Given the description of an element on the screen output the (x, y) to click on. 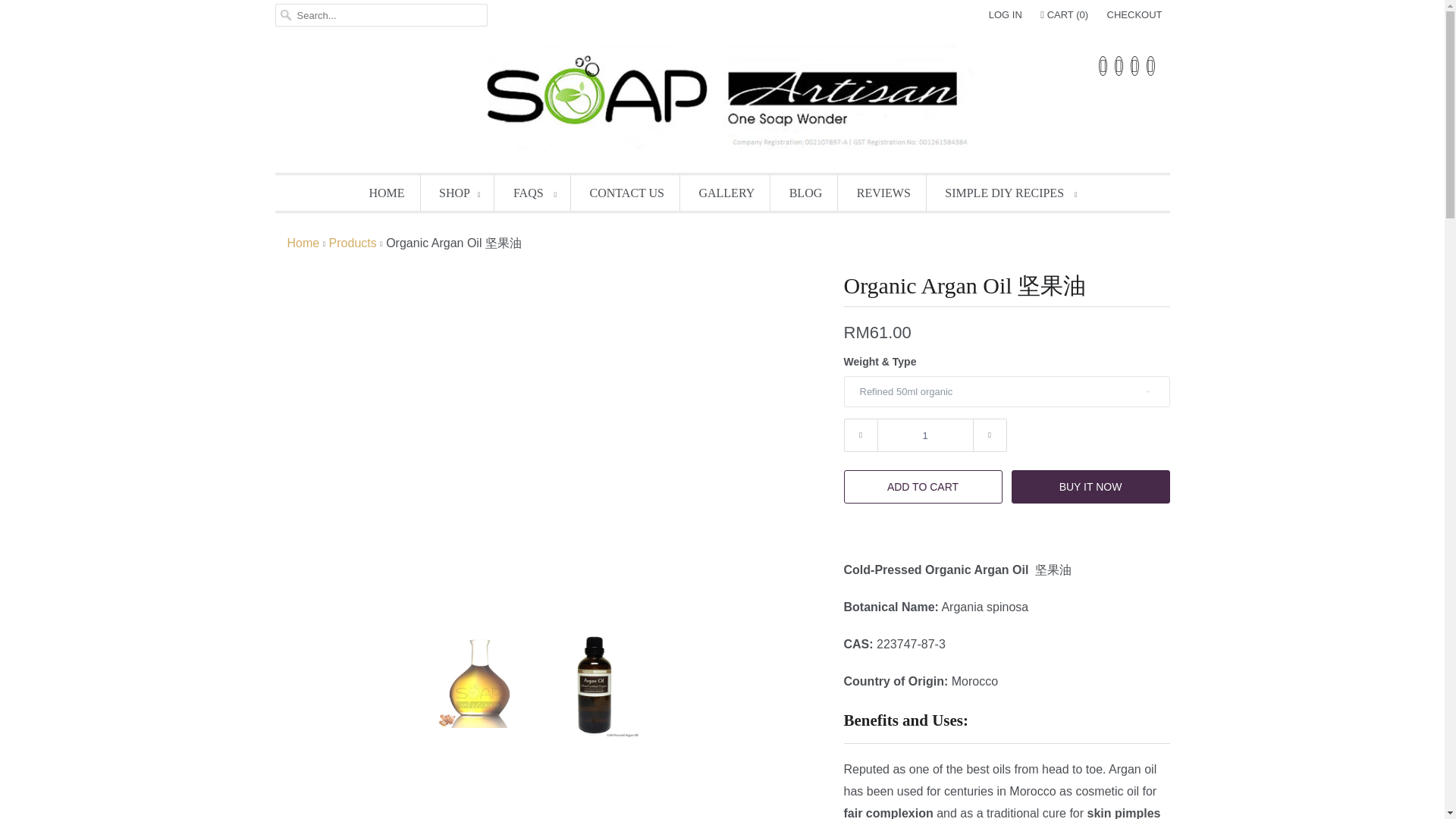
Soap Artisan (302, 242)
1 (924, 435)
Soap Artisan (721, 99)
Products (353, 242)
CHECKOUT (1133, 15)
LOG IN (1005, 15)
